Given the description of an element on the screen output the (x, y) to click on. 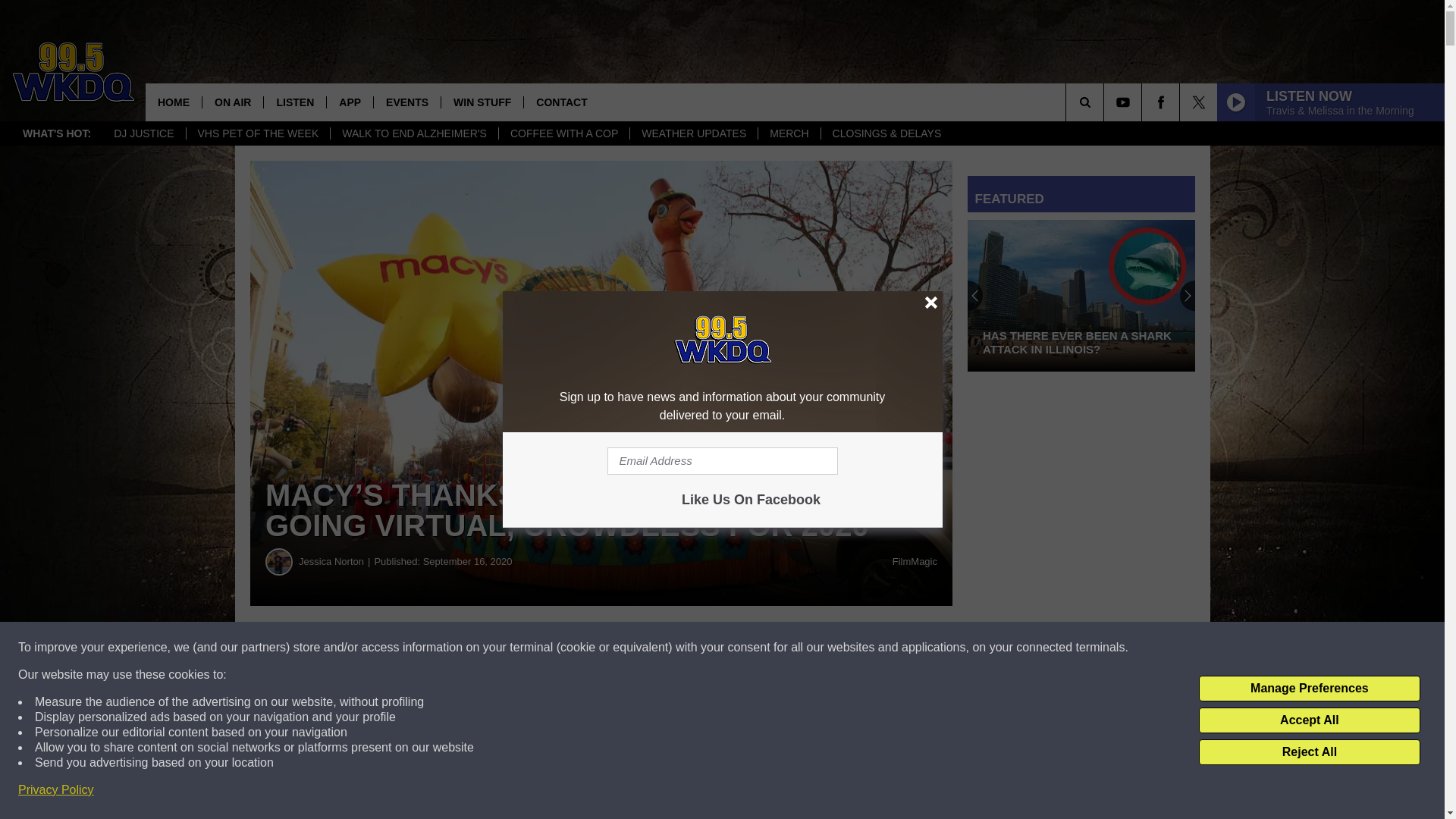
Accept All (1309, 720)
WHAT'S HOT: (56, 133)
Share on Twitter (741, 647)
Share on Facebook (460, 647)
HOME (173, 102)
Privacy Policy (55, 789)
SEARCH (1106, 102)
Email Address (722, 461)
VHS PET OF THE WEEK (258, 133)
DJ JUSTICE (142, 133)
EVENTS (406, 102)
APP (349, 102)
LISTEN (294, 102)
MERCH (788, 133)
ON AIR (232, 102)
